Given the description of an element on the screen output the (x, y) to click on. 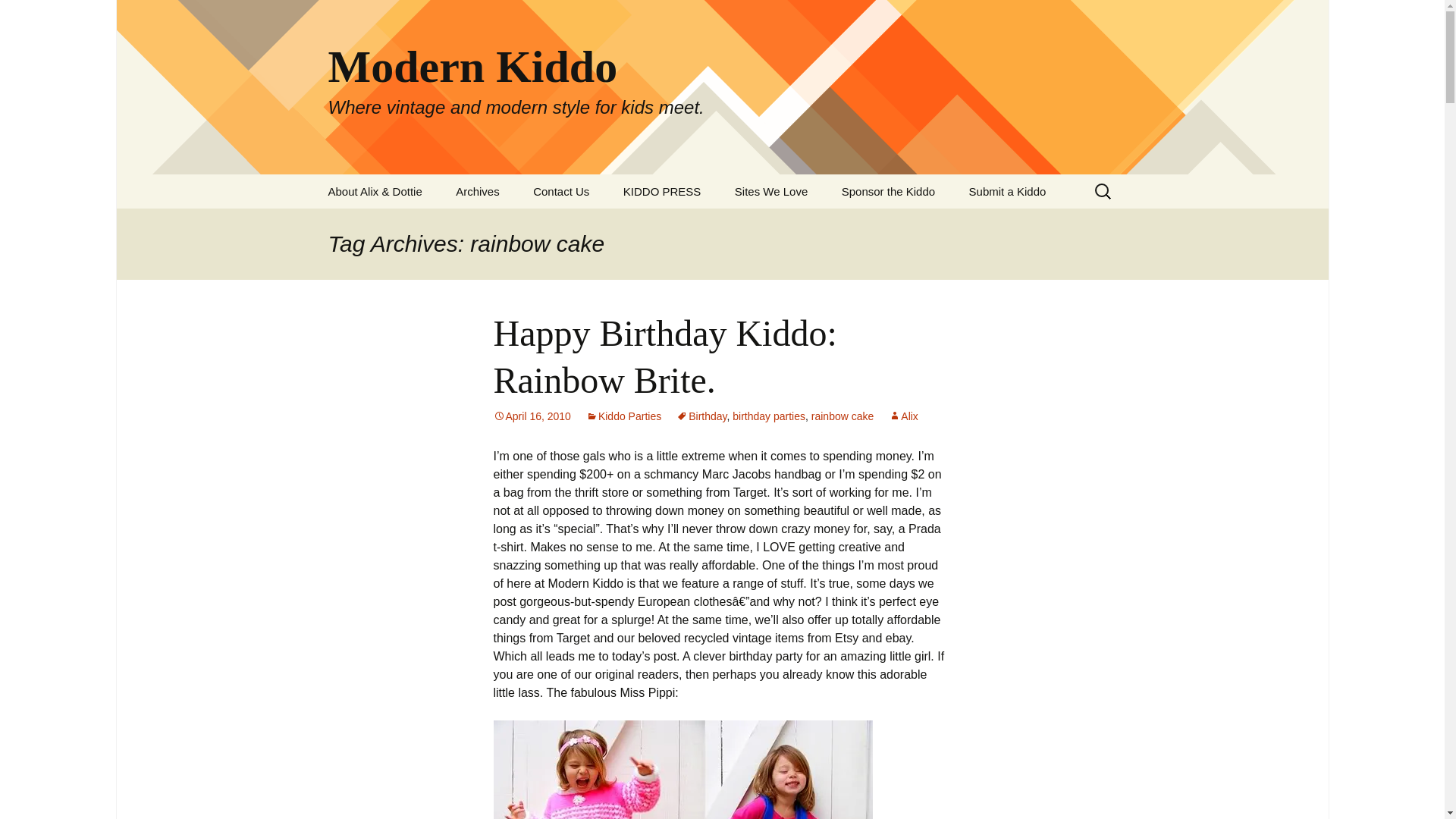
April 16, 2010 (531, 416)
View all posts by Alix (903, 416)
Birthday (701, 416)
Search (18, 15)
Search (34, 15)
Archives (478, 191)
Sites We Love (770, 191)
KIDDO PRESS (662, 191)
Happy Birthday Kiddo: Rainbow Brite. (664, 356)
Permalink to Happy Birthday Kiddo: Rainbow Brite. (531, 416)
Contact Us (561, 191)
rainbow cake (842, 416)
